Given the description of an element on the screen output the (x, y) to click on. 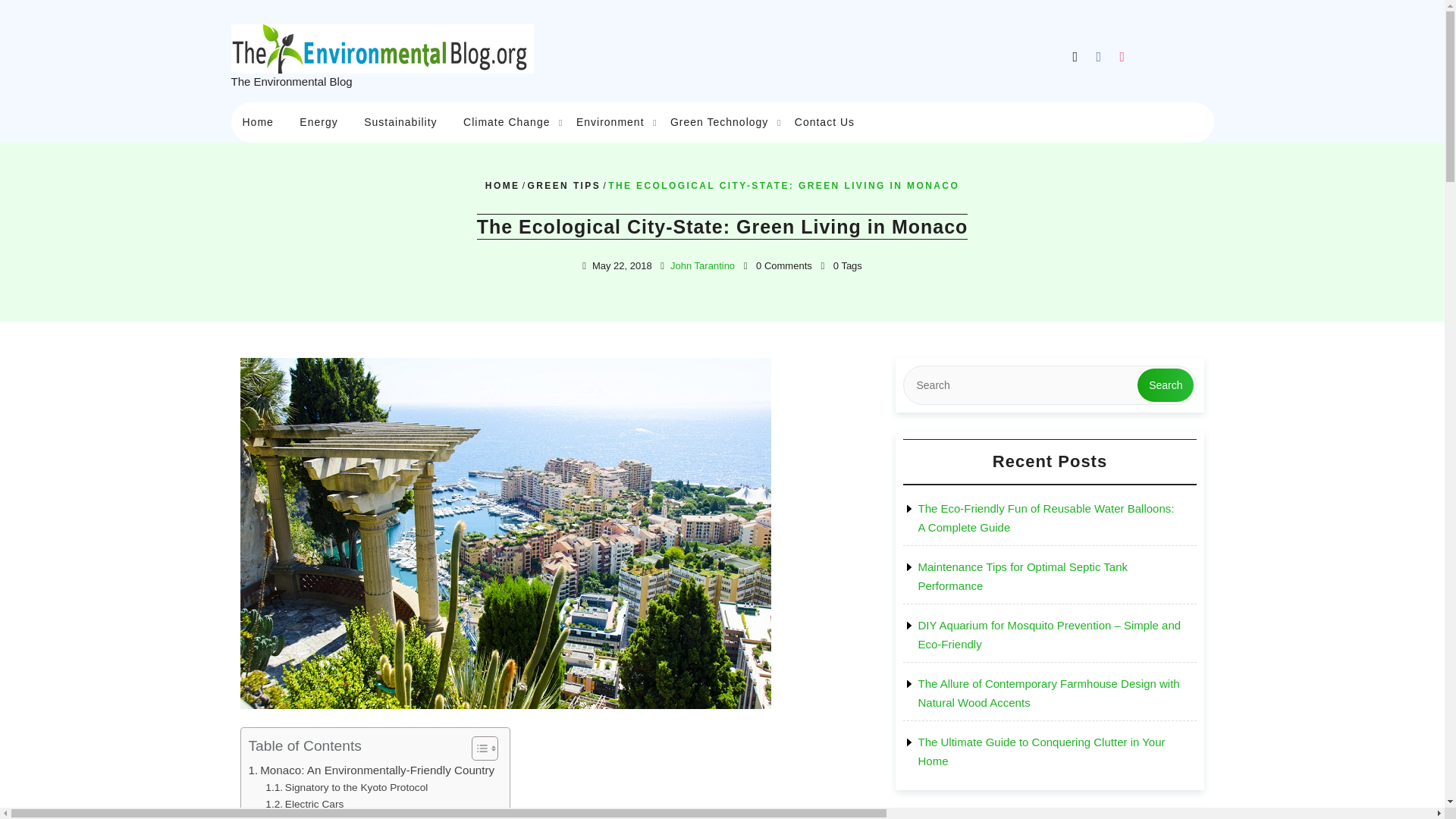
Energy (318, 122)
Home (256, 122)
Sustainability (400, 122)
GREEN TIPS (563, 185)
Contact Us (824, 122)
Electric Cars (303, 804)
Monaco: An Environmentally-Friendly Country (371, 770)
Signatory to the Kyoto Protocol (346, 787)
Climate Change (505, 122)
Waste is Recycled (316, 816)
